Given the description of an element on the screen output the (x, y) to click on. 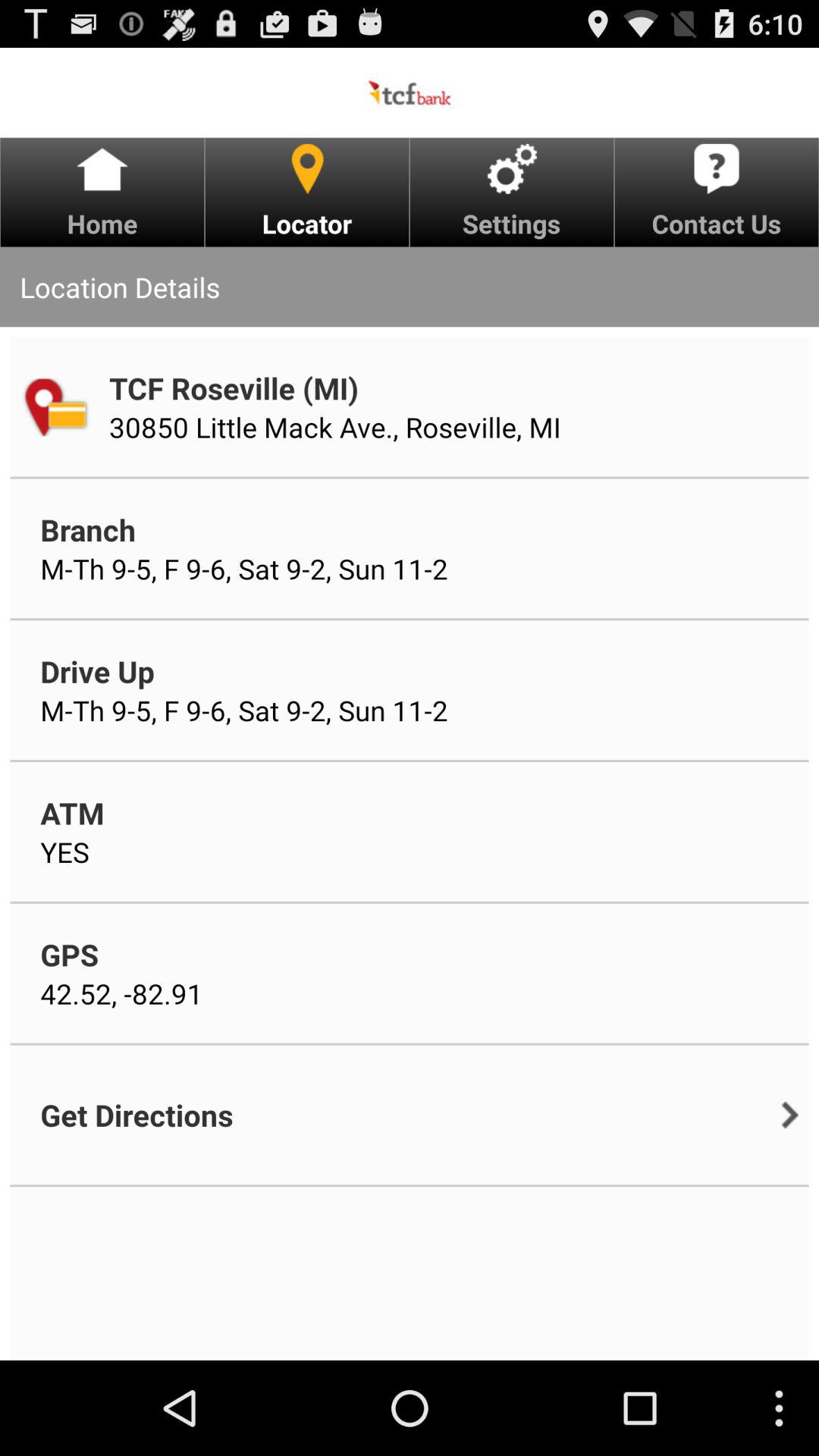
choose branch (87, 529)
